Given the description of an element on the screen output the (x, y) to click on. 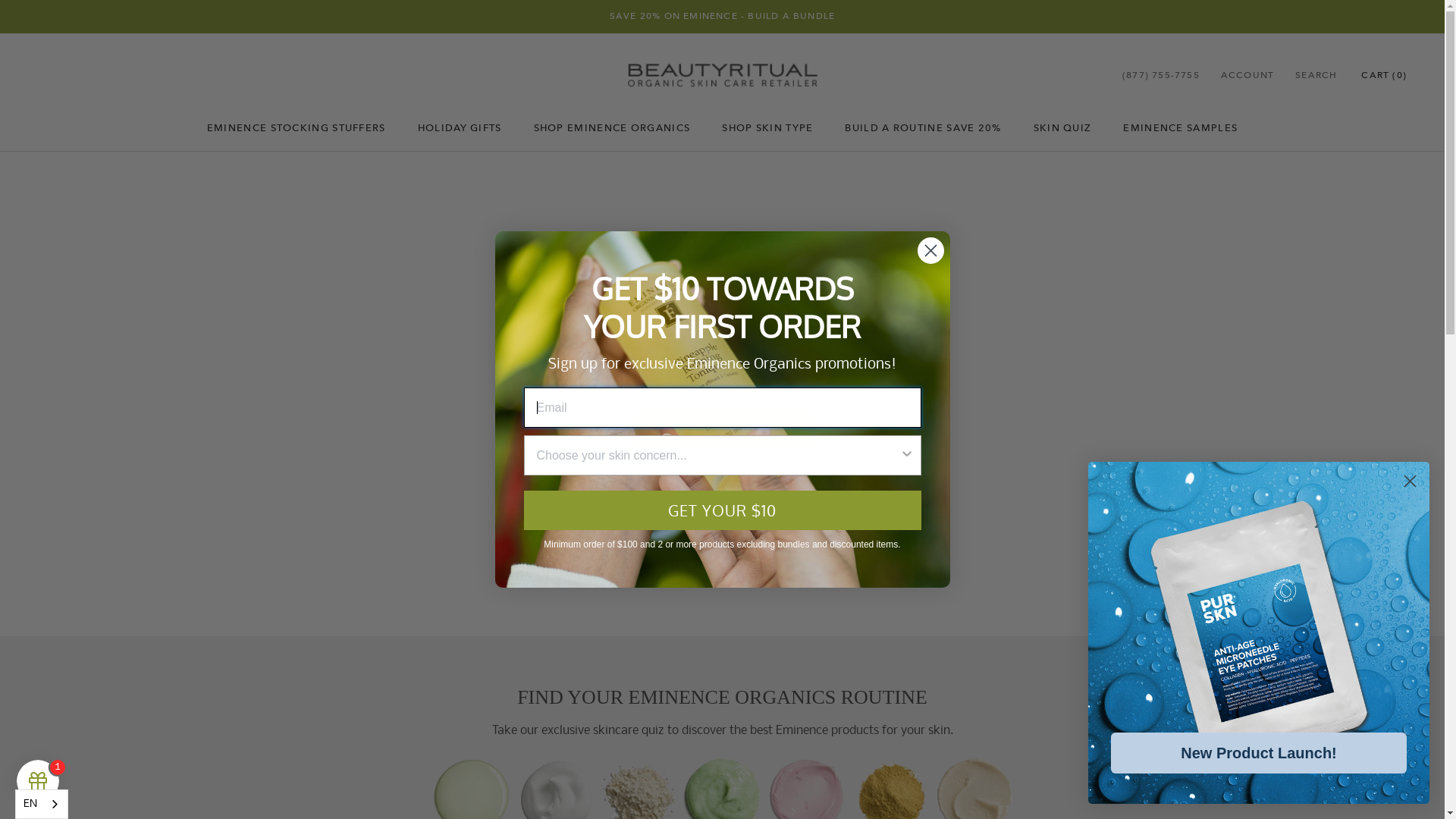
BACK TO HOMEPAGE Element type: text (721, 429)
EMINENCE SAMPLES
EMINENCE SAMPLES Element type: text (1180, 127)
GET YOUR $10 Element type: text (721, 510)
CART (0) Element type: text (1383, 74)
EN Element type: text (41, 804)
BUILD A ROUTINE SAVE 20%
BUILD A ROUTINE SAVE 20% Element type: text (922, 127)
HOLIDAY GIFTS
HOLIDAY GIFTS Element type: text (459, 127)
ACCOUNT Element type: text (1247, 75)
SHOP SKIN TYPE Element type: text (766, 127)
SEARCH Element type: text (1315, 75)
SHOP EMINENCE ORGANICS
SHOP EMINENCE ORGANICS Element type: text (611, 127)
EMINENCE STOCKING STUFFERS
EMINENCE STOCKING STUFFERS Element type: text (296, 127)
SAVE 20% ON EMINENCE - BUILD A BUNDLE Element type: text (721, 15)
(877) 755-7755 Element type: text (1160, 75)
New Product Launch! Element type: text (1258, 752)
SKIN QUIZ
SKIN QUIZ Element type: text (1062, 127)
Submit Element type: text (21, 7)
